Given the description of an element on the screen output the (x, y) to click on. 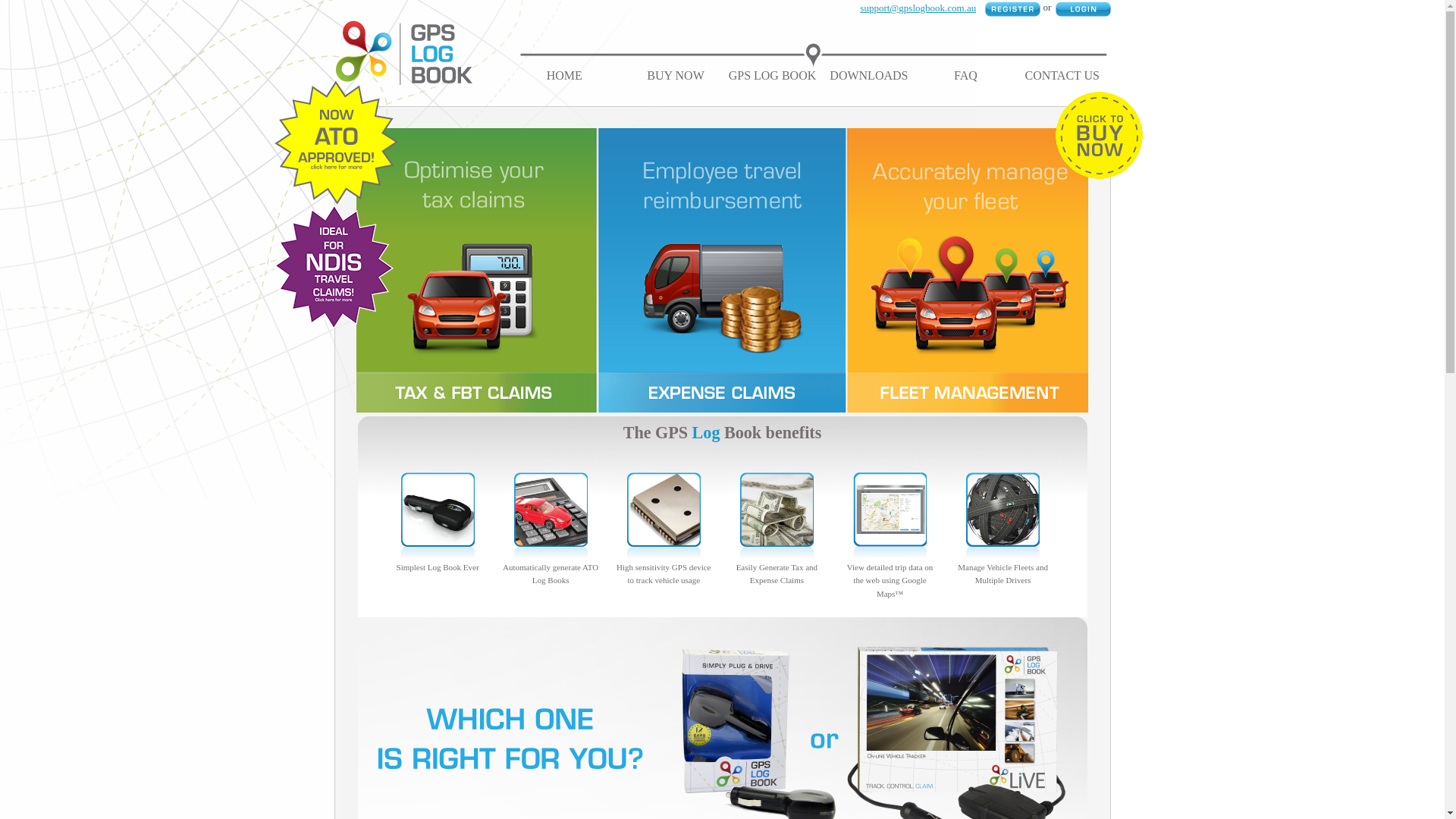
DOWNLOADS Element type: text (868, 75)
support@gpslogbook.com.au Element type: text (917, 7)
GPS LOG BOOK Element type: text (772, 75)
FAQ Element type: text (965, 75)
BUY NOW Element type: text (674, 75)
CONTACT US Element type: text (1062, 75)
HOME Element type: text (564, 75)
